Given the description of an element on the screen output the (x, y) to click on. 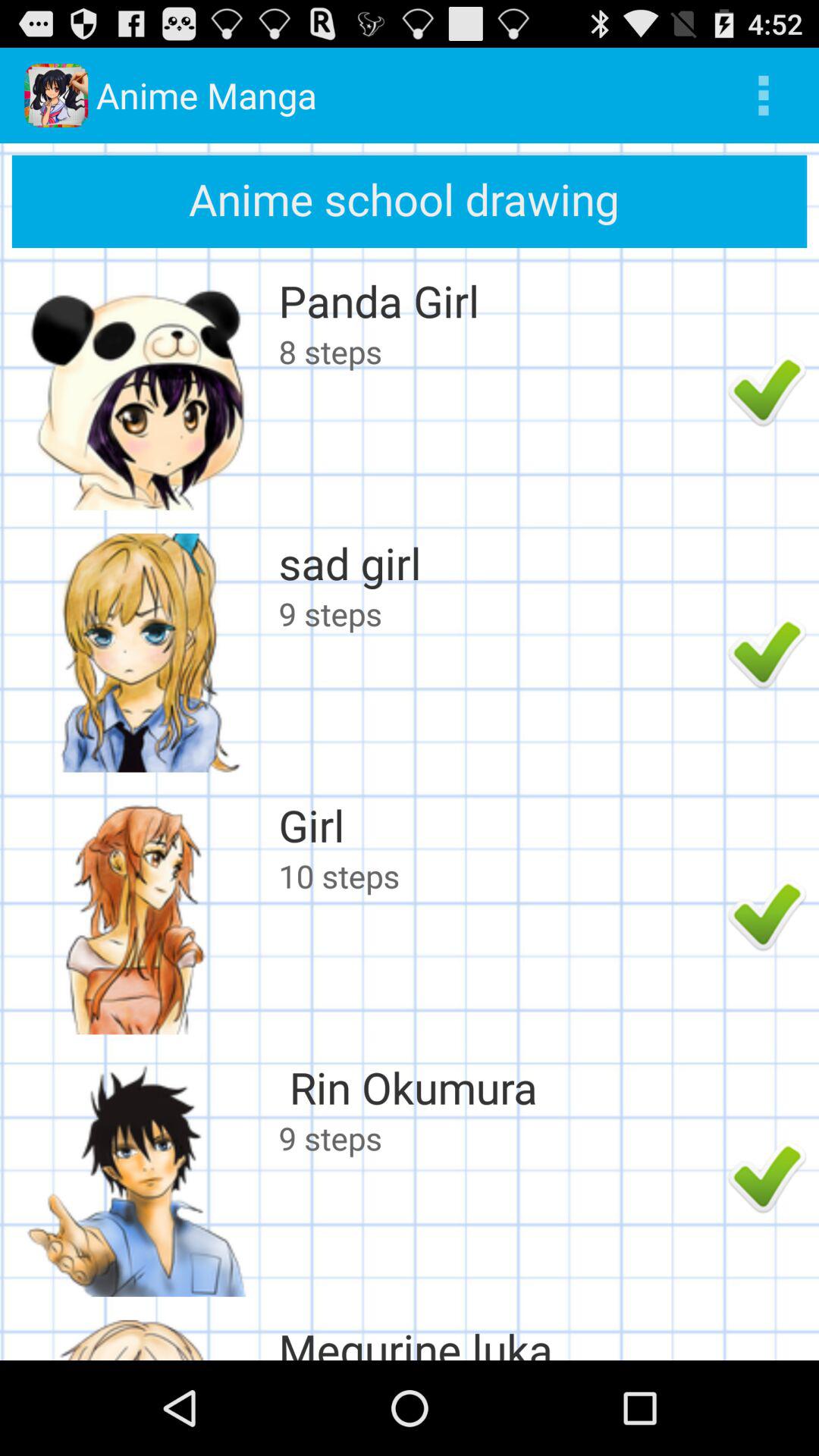
open the 8 steps app (498, 351)
